Given the description of an element on the screen output the (x, y) to click on. 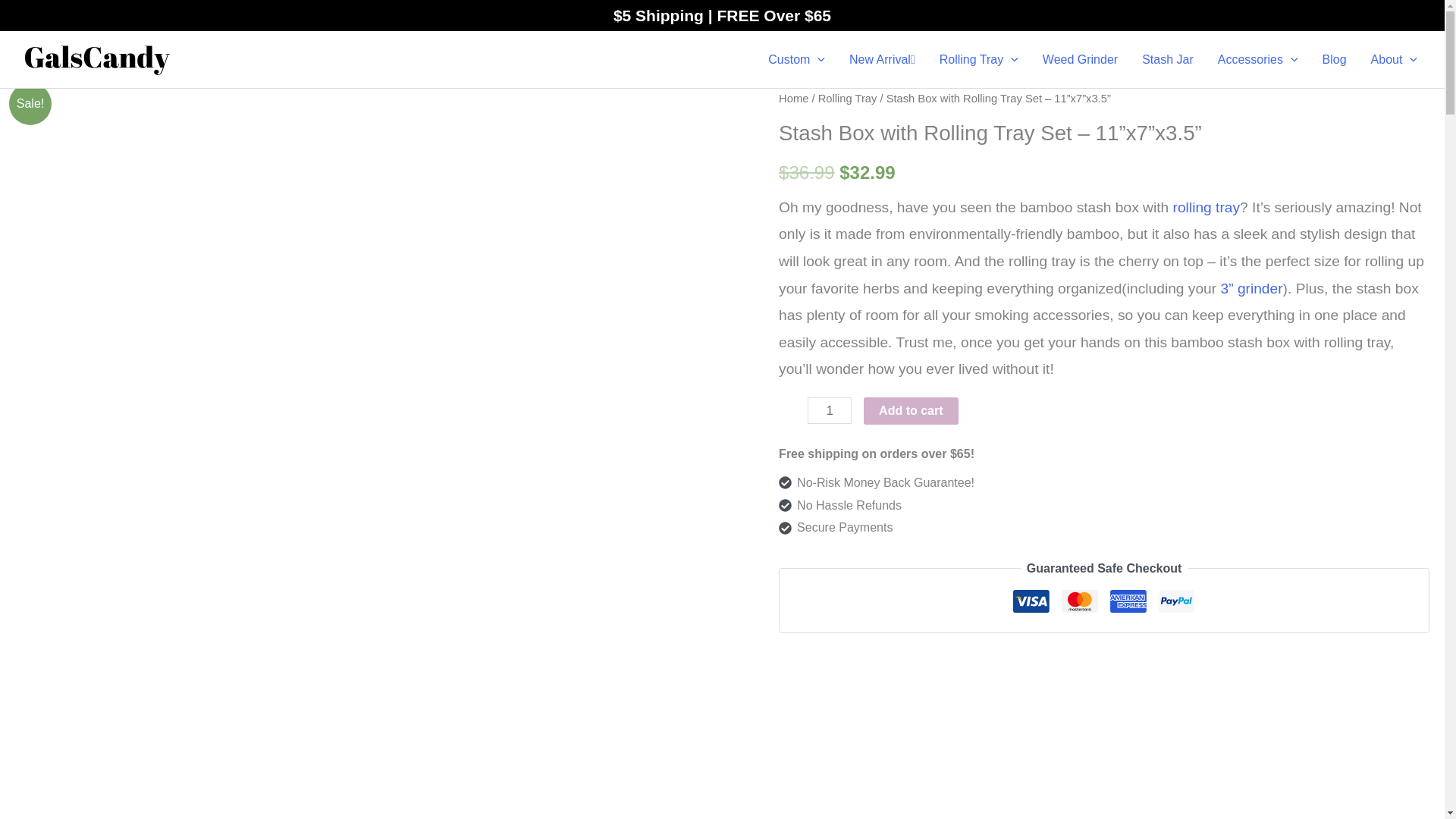
Accessories (1257, 59)
Custom (796, 59)
Stash Jar (1167, 59)
1 (829, 410)
Blog (1334, 59)
About (1393, 59)
Weed Grinder (1079, 59)
Rolling Tray (978, 59)
